Given the description of an element on the screen output the (x, y) to click on. 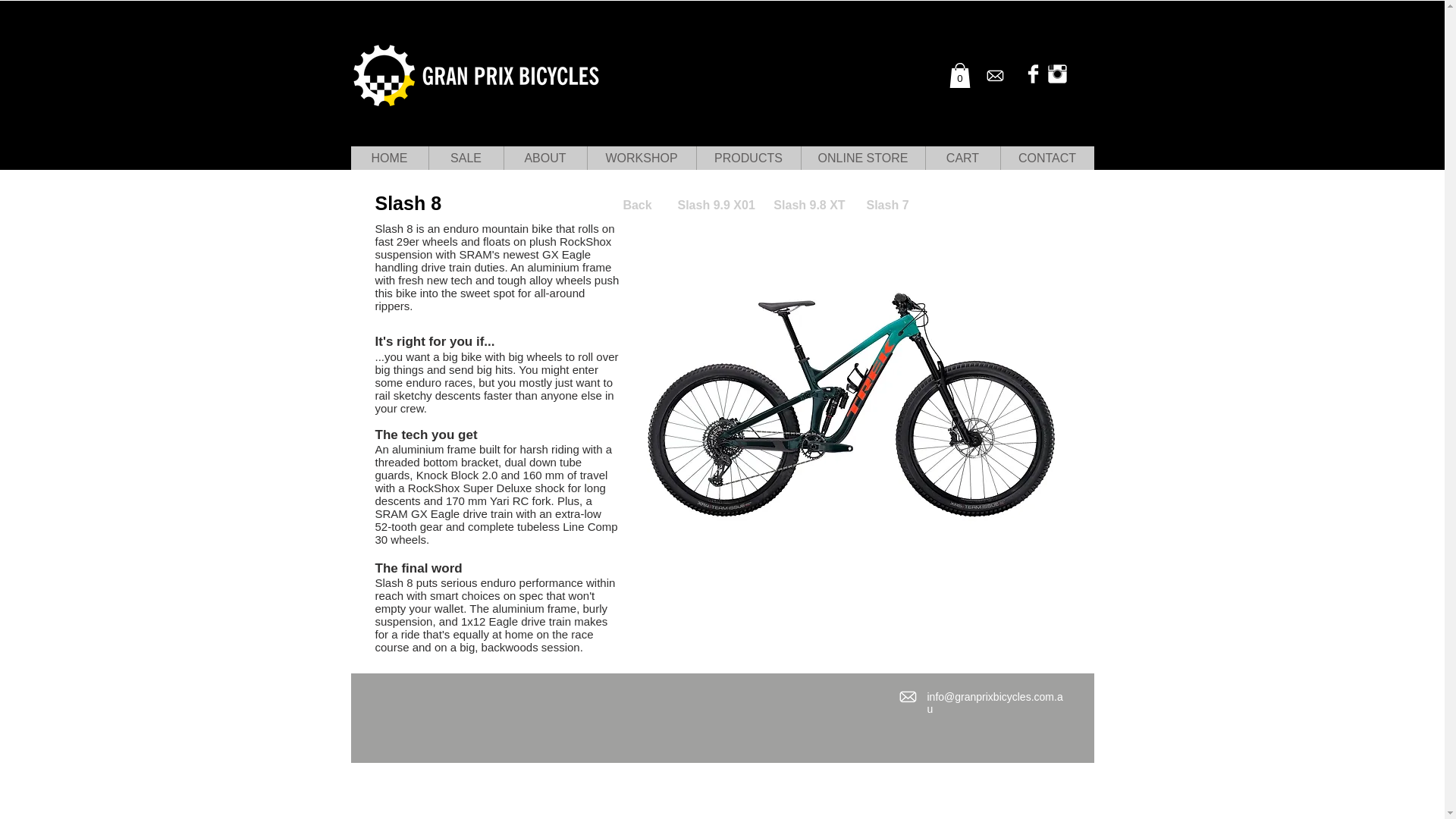
CART (962, 157)
HOME (389, 157)
Slash 9.8 XT (809, 205)
WORKSHOP (640, 157)
Back (636, 205)
Slash 7 (887, 205)
ONLINE STORE (862, 157)
ABOUT (544, 157)
Slash 9.9 X01 (716, 205)
Gran Prix Bicycles (475, 76)
CONTACT (1045, 157)
SALE (465, 157)
PRODUCTS (747, 157)
